Given the description of an element on the screen output the (x, y) to click on. 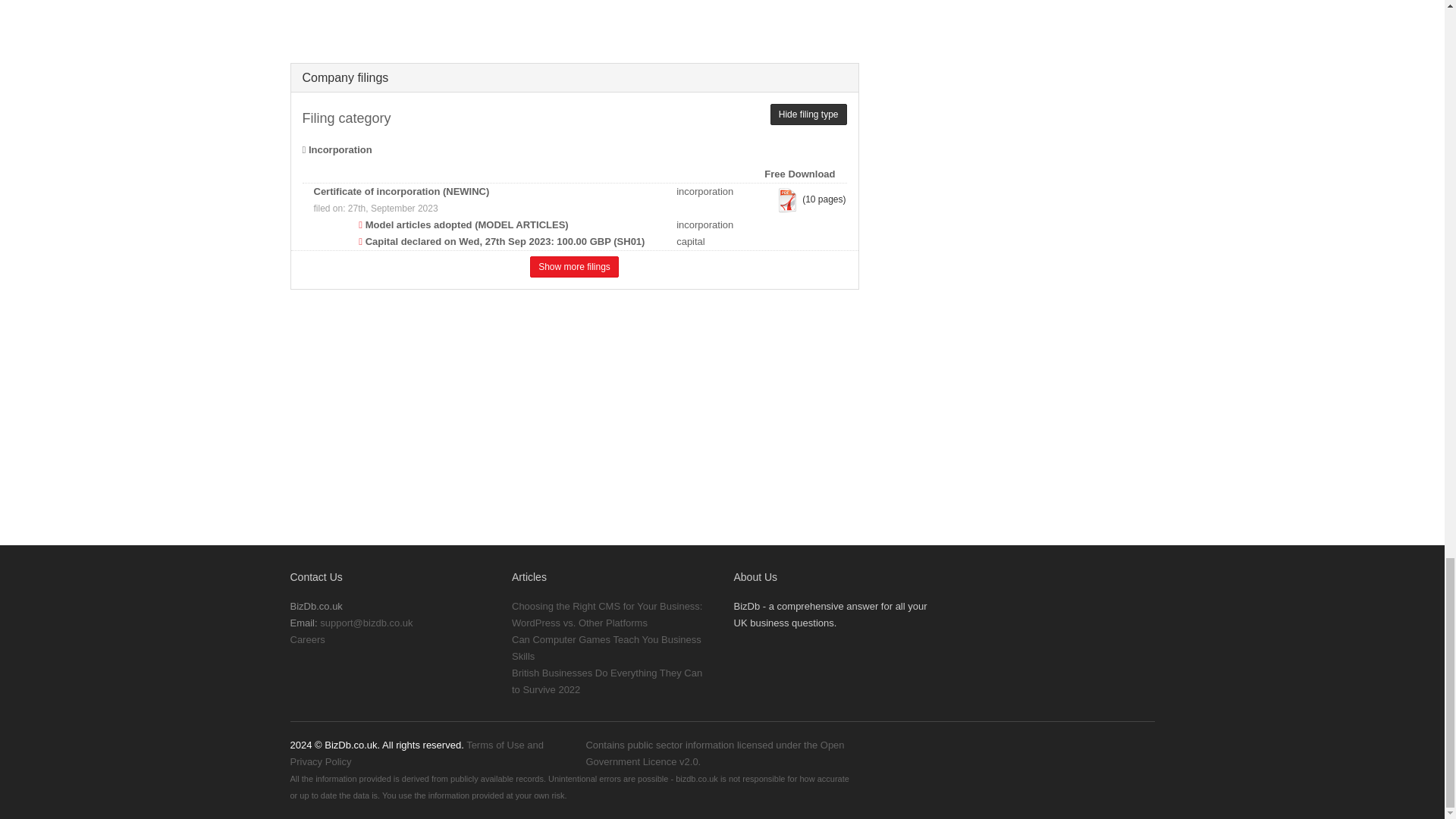
Show more filings (573, 266)
Email Us (366, 622)
Careers (306, 639)
Terms of Use and Privacy Policy (416, 753)
Articles (529, 576)
British Businesses Do Everything They Can to Survive 2022 (606, 681)
Download the filing (787, 200)
Open Government Licence v2.0. (714, 753)
Can Computer Games Teach You Business Skills (606, 647)
